Given the description of an element on the screen output the (x, y) to click on. 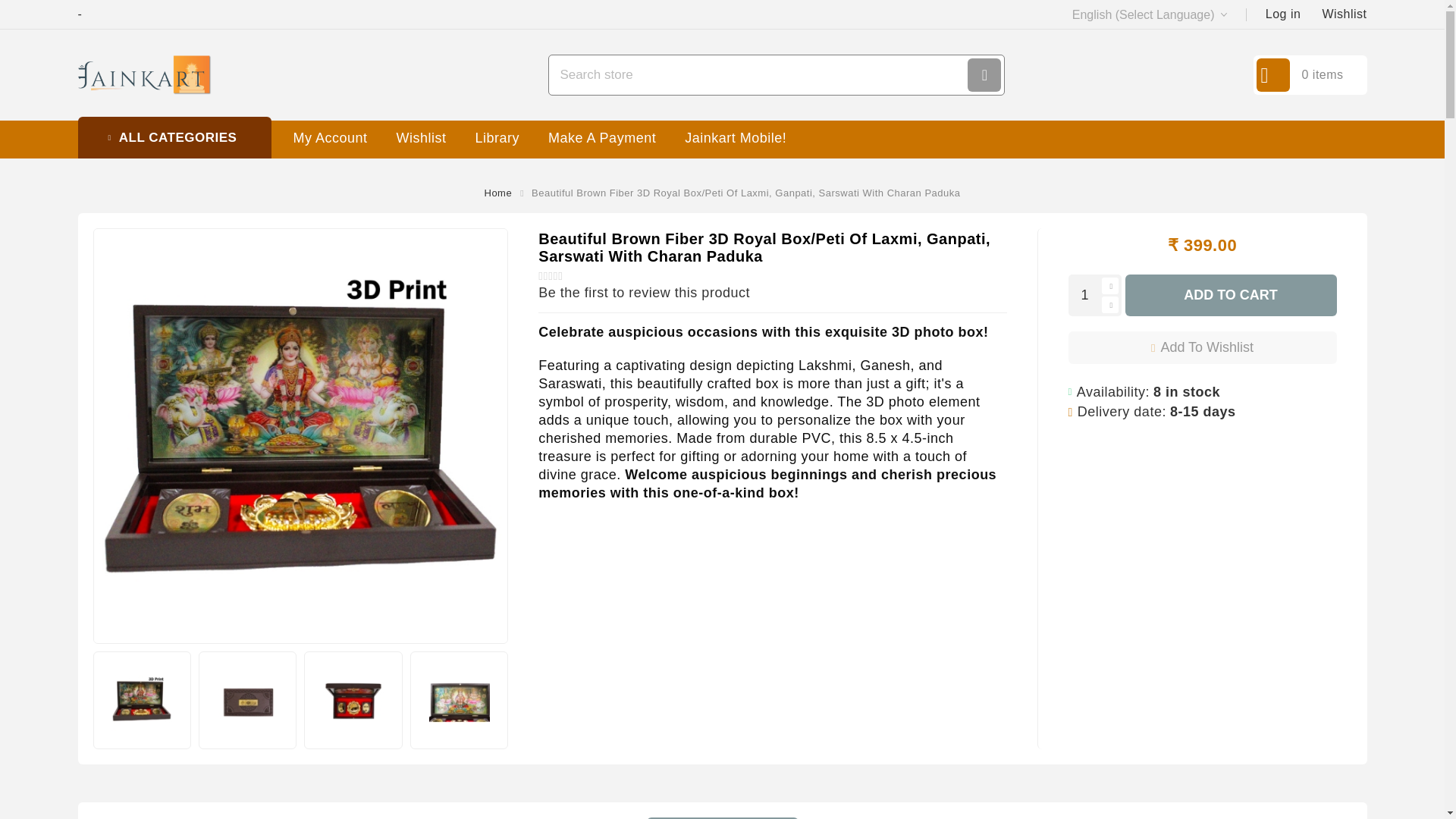
SEARCH (984, 74)
Log in (1283, 13)
0 items (1309, 75)
Wishlist (1344, 13)
